Given the description of an element on the screen output the (x, y) to click on. 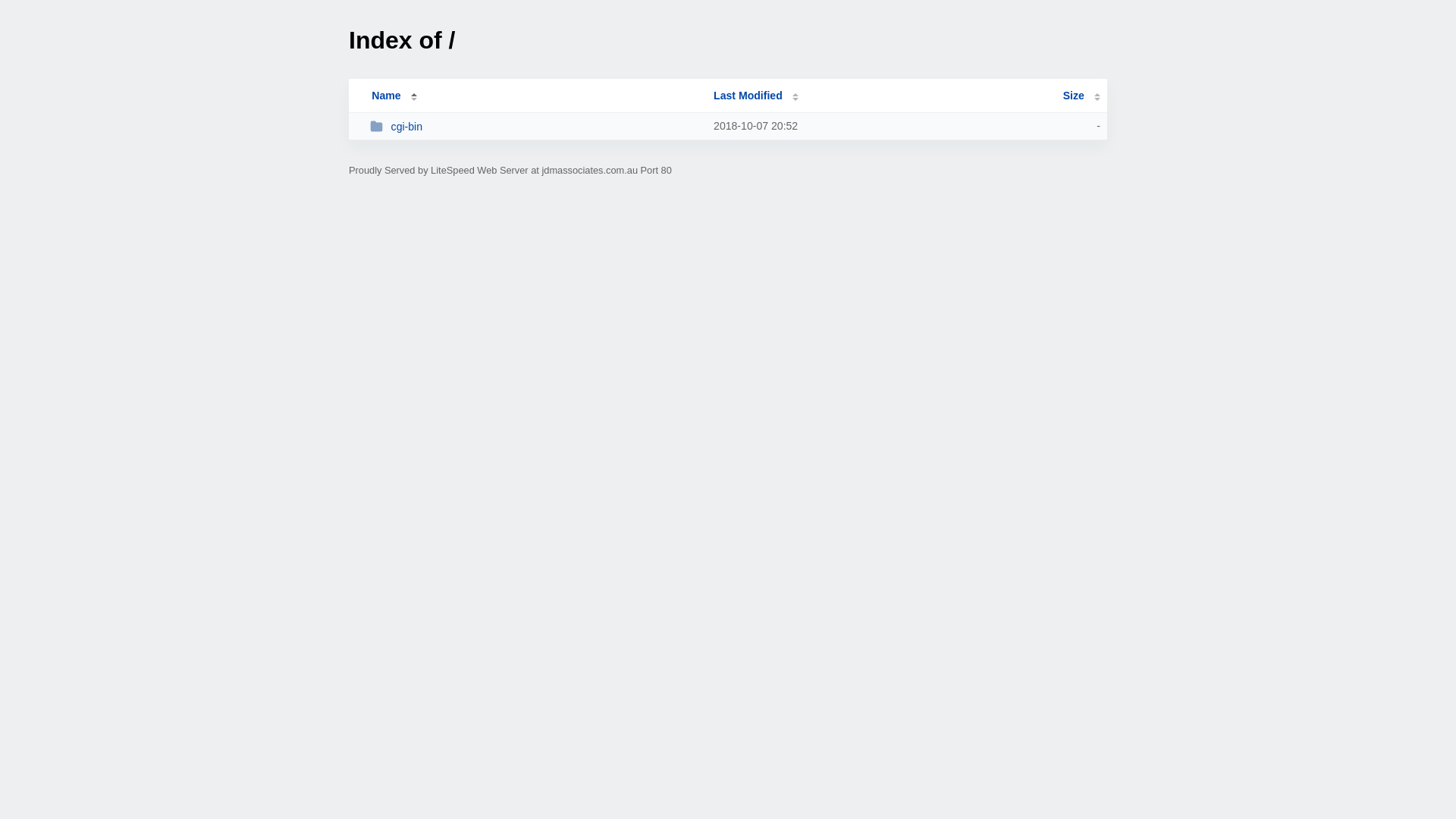
Name Element type: text (385, 95)
cgi-bin Element type: text (534, 125)
Last Modified Element type: text (755, 95)
Size Element type: text (1081, 95)
